Given the description of an element on the screen output the (x, y) to click on. 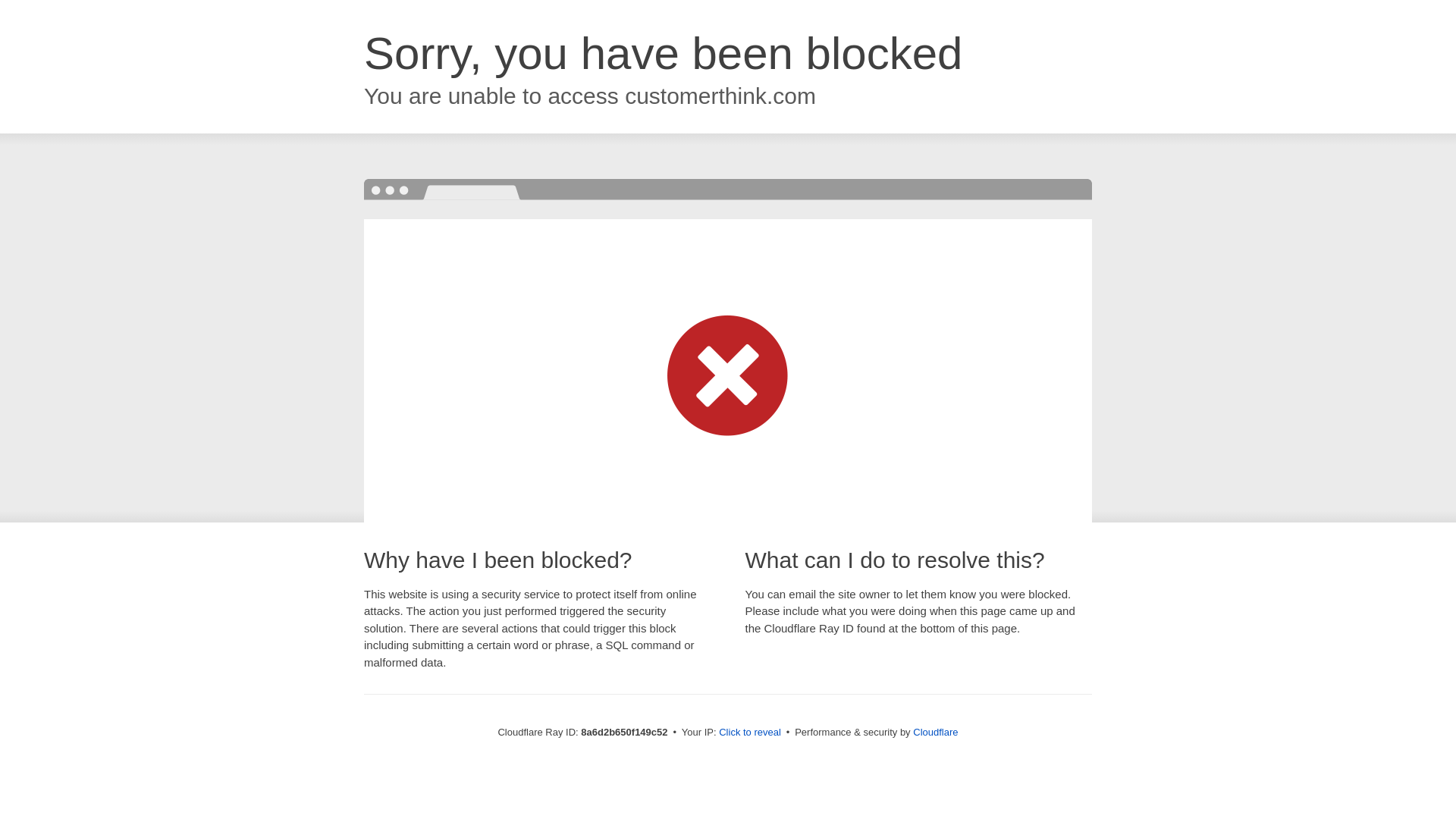
Cloudflare (935, 731)
Click to reveal (749, 732)
